Given the description of an element on the screen output the (x, y) to click on. 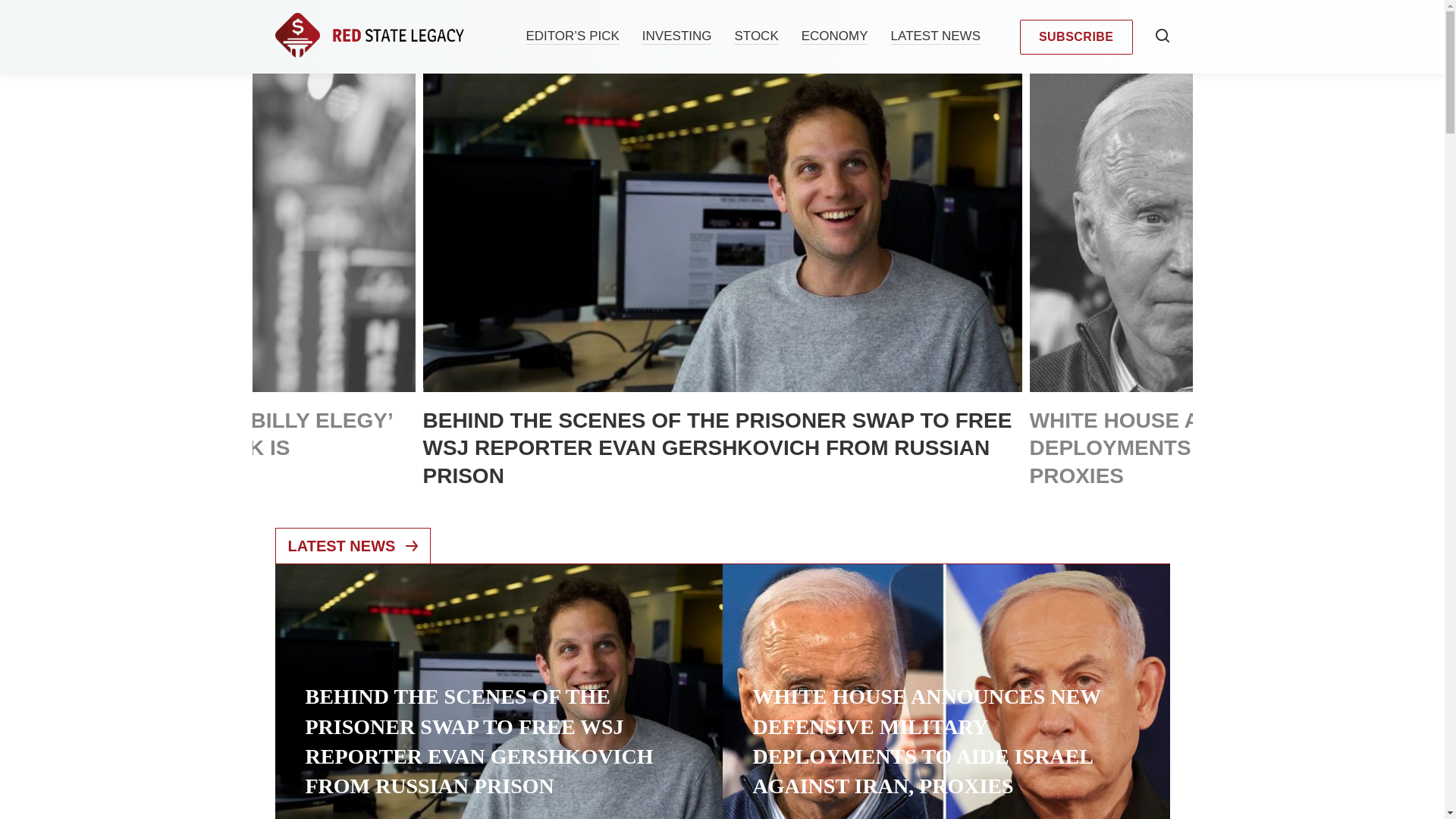
LATEST NEWS (352, 545)
Previous (315, 232)
INVESTING (676, 36)
LATEST NEWS (935, 36)
Next (1128, 232)
STOCK (755, 36)
SUBSCRIBE (1076, 36)
ECONOMY (834, 36)
